Given the description of an element on the screen output the (x, y) to click on. 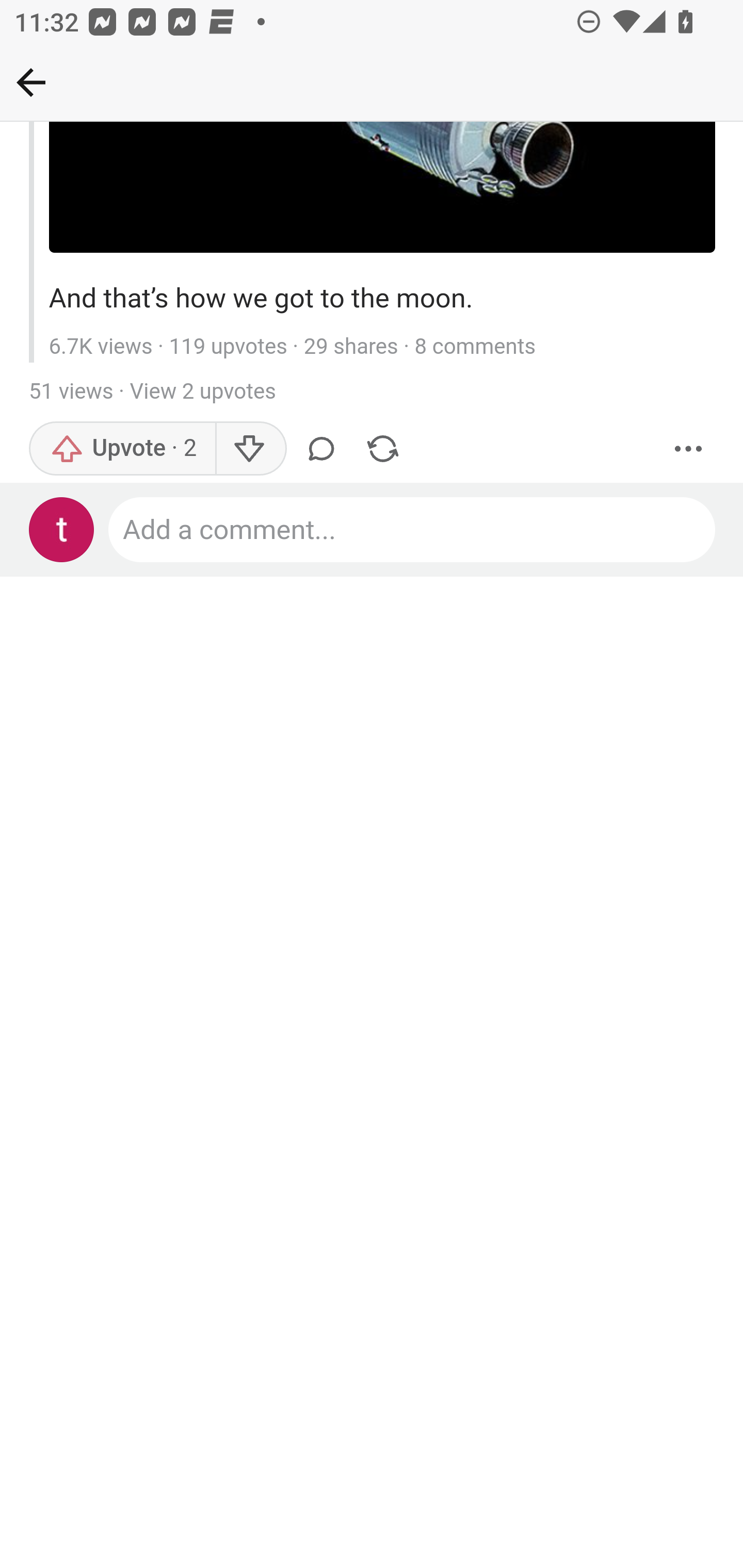
Back (30, 82)
6.7K views (99, 348)
119 upvotes (228, 348)
29 shares (350, 348)
8 comments (474, 348)
View 2 upvotes (201, 393)
Upvote (122, 450)
Downvote (249, 450)
Comment (324, 450)
Share (382, 450)
More (688, 450)
Profile photo for Test Appium (61, 531)
Add a comment... (412, 531)
